Given the description of an element on the screen output the (x, y) to click on. 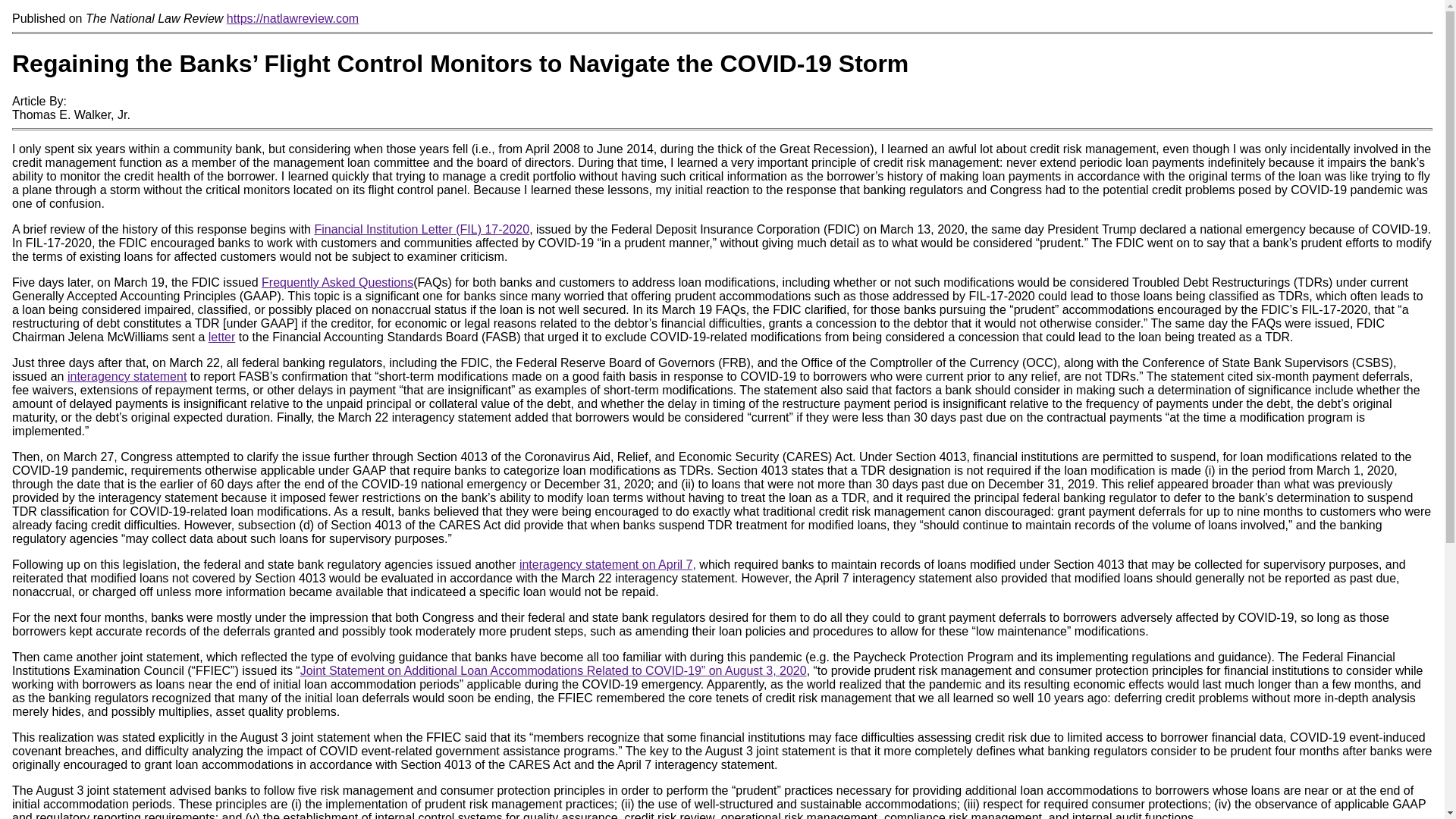
interagency statement on April 7, (607, 563)
interagency statement (126, 376)
letter (221, 336)
Frequently Asked Questions (337, 282)
